Given the description of an element on the screen output the (x, y) to click on. 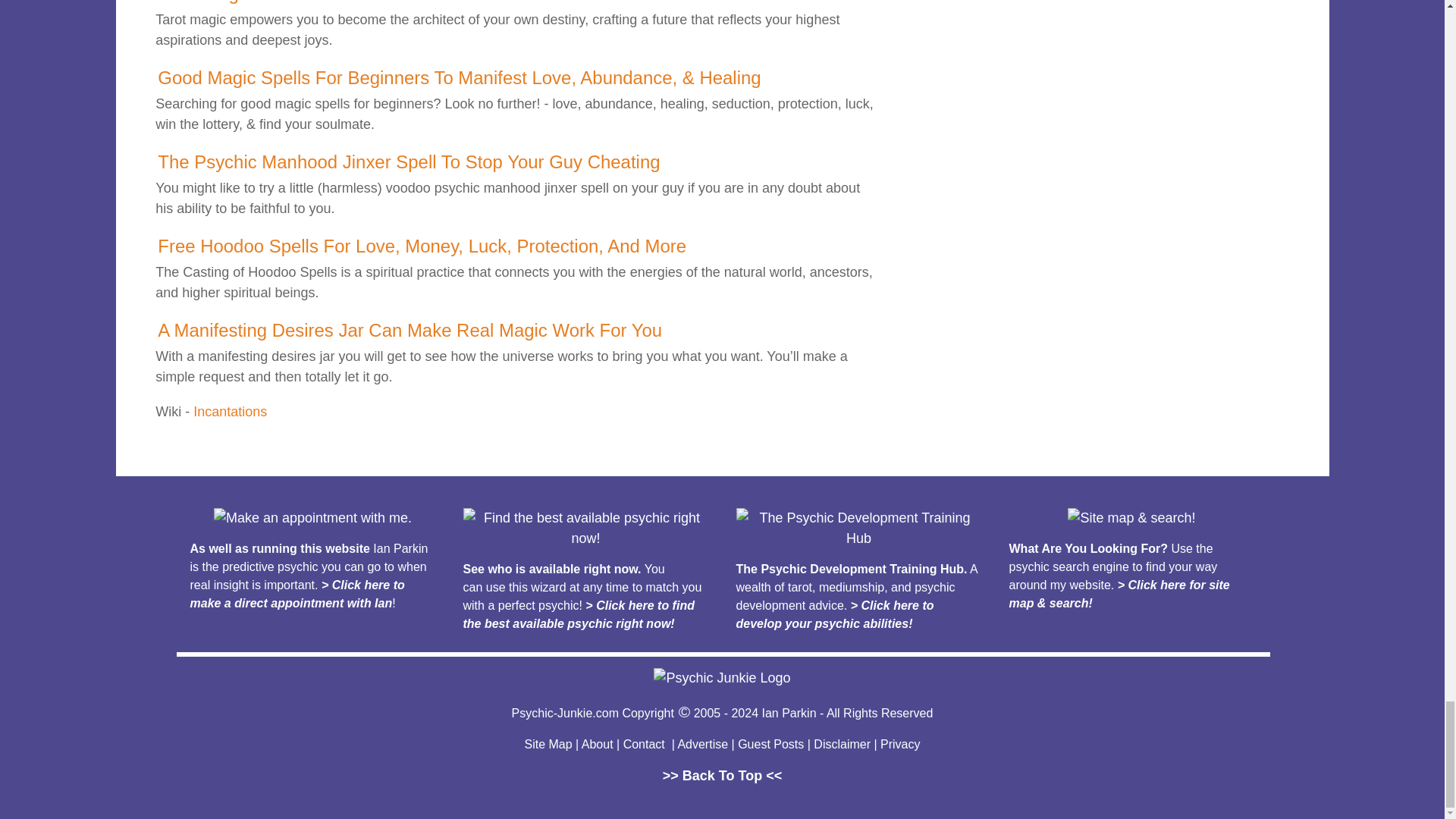
Find the best available psychic right now! (585, 527)
Make an appointment with me. (313, 517)
The Psychic Development Training Hub (858, 527)
Go to I Need A Psychic Reading And Real Insight Matters (313, 517)
Psychic Junkie Logo (721, 678)
